Given the description of an element on the screen output the (x, y) to click on. 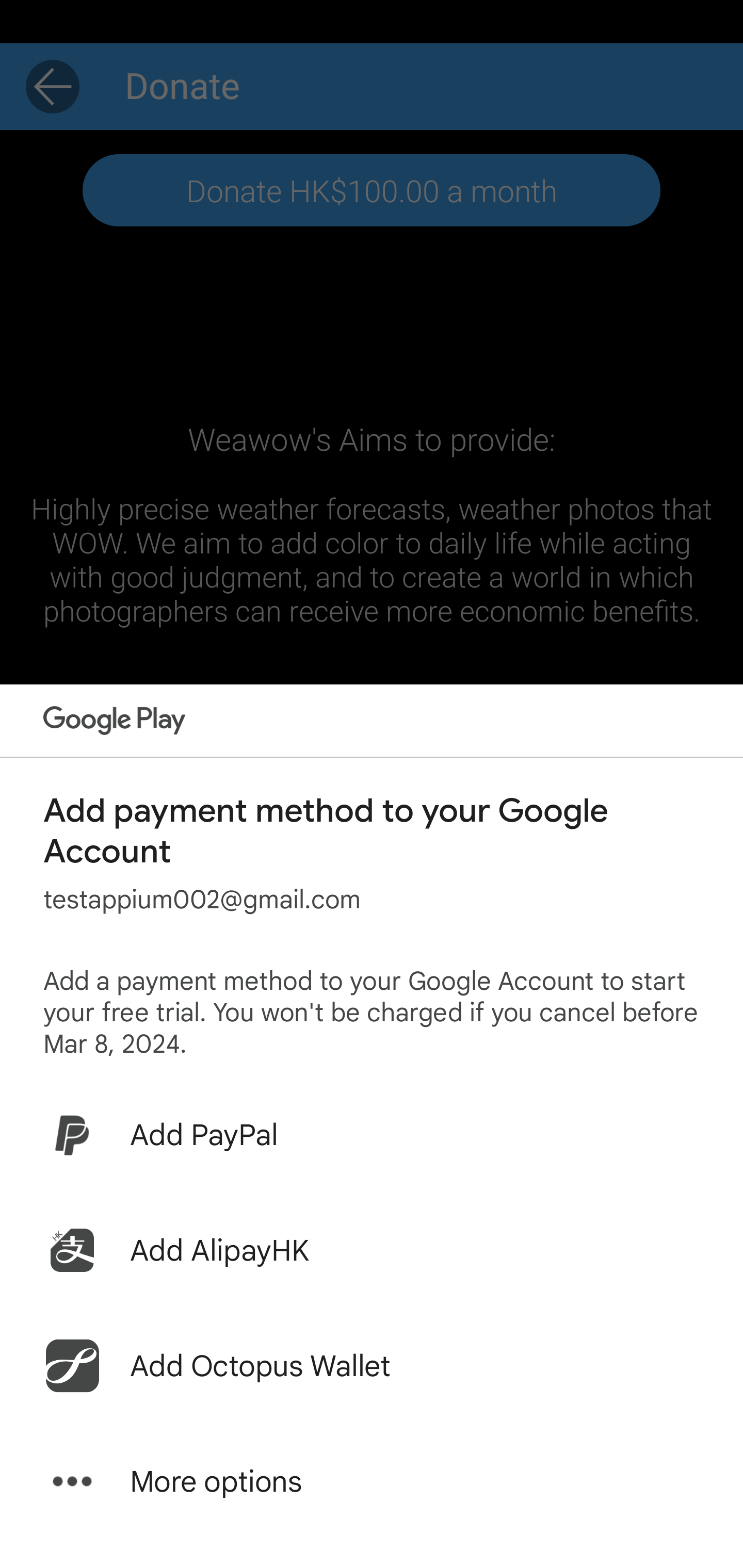
Add PayPal (371, 1135)
Add AlipayHK (371, 1250)
Add Octopus Wallet (371, 1365)
More options (371, 1481)
